Given the description of an element on the screen output the (x, y) to click on. 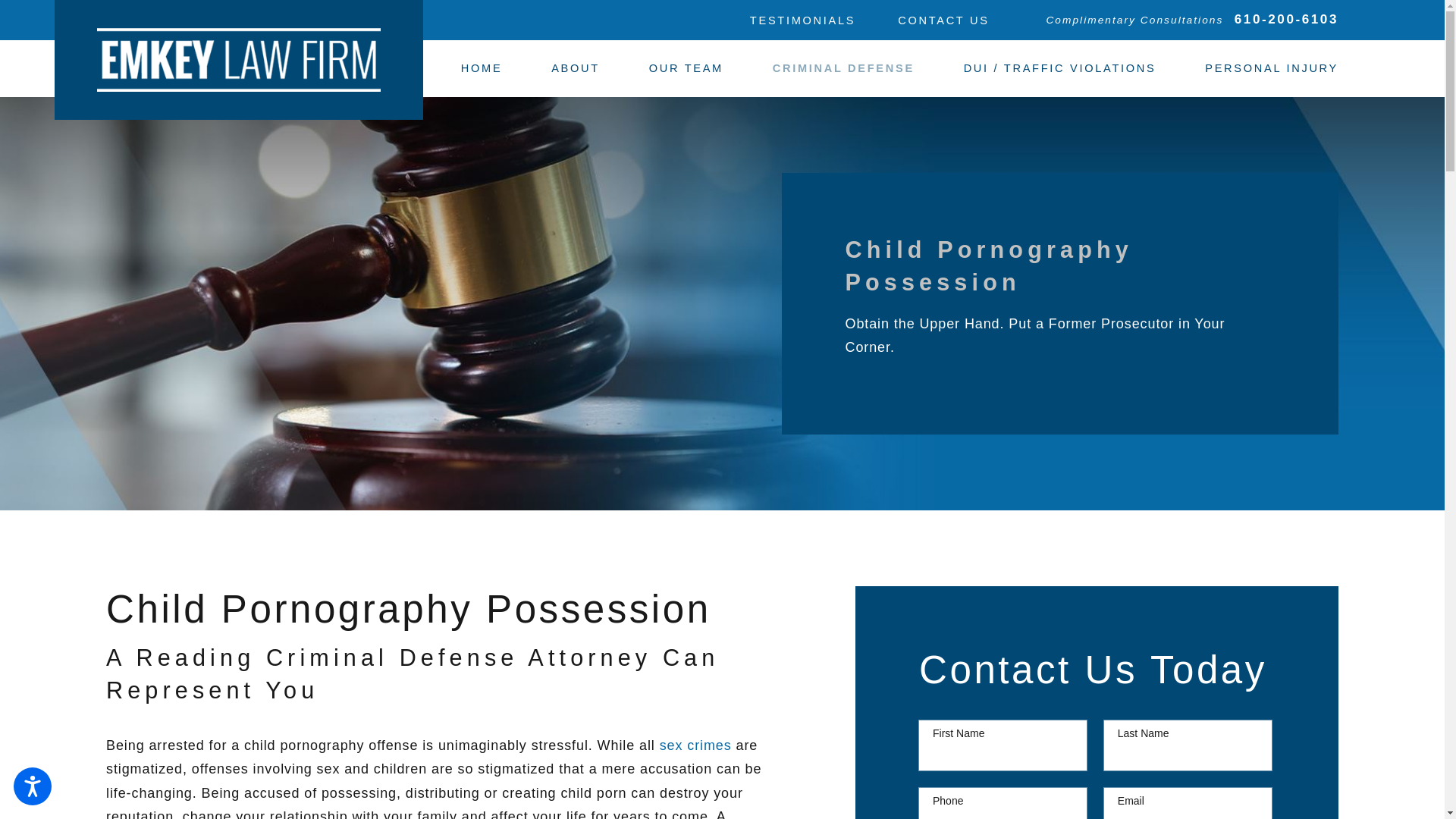
HOME (481, 68)
610-200-6103 (1286, 19)
CRIMINAL DEFENSE (843, 68)
ABOUT (575, 68)
CONTACT US (943, 20)
Emkey Law Firm (238, 59)
OUR TEAM (686, 68)
TESTIMONIALS (802, 20)
Open the accessibility options menu (31, 786)
